Given the description of an element on the screen output the (x, y) to click on. 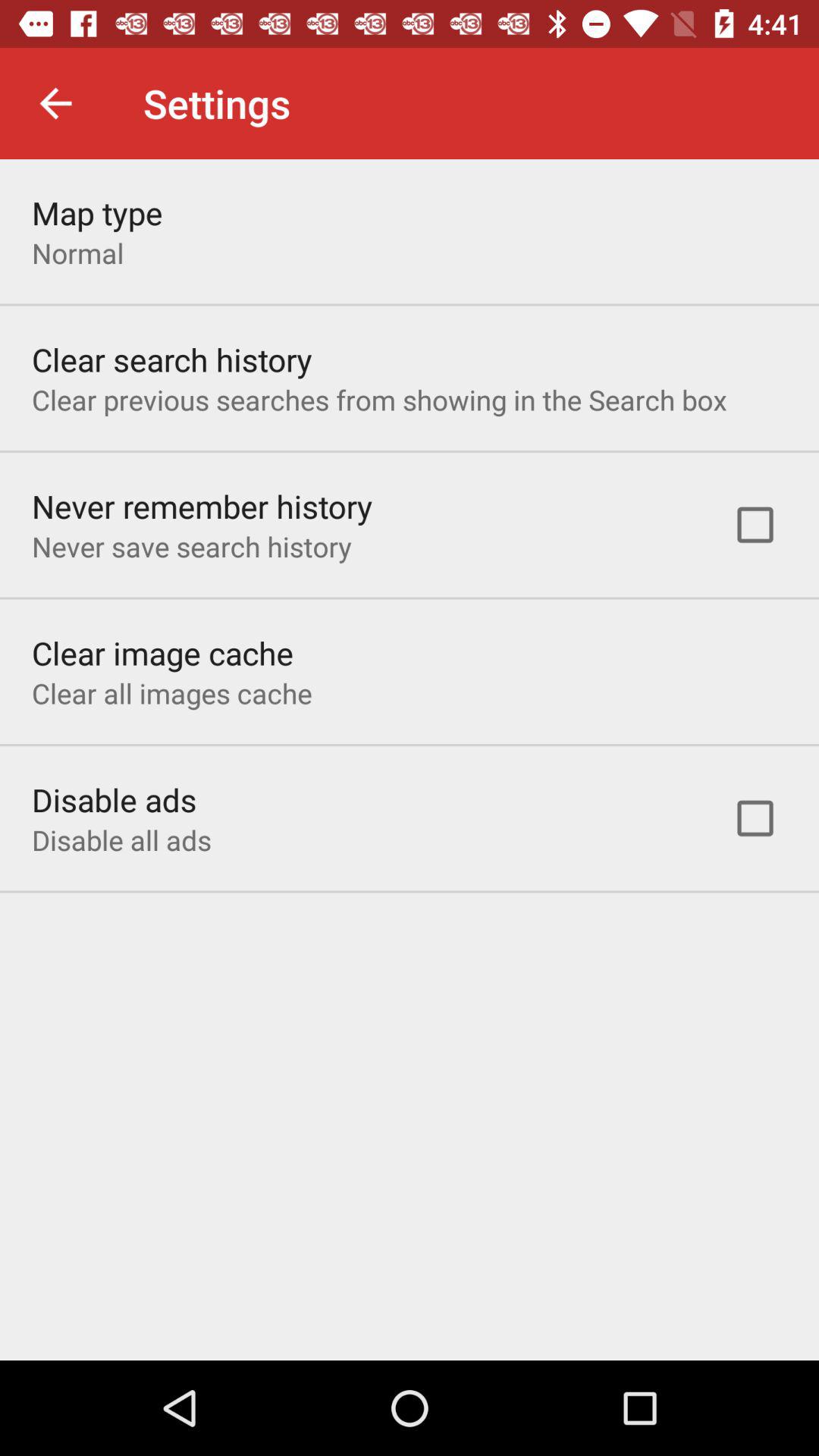
tap the icon to the left of settings item (55, 103)
